Given the description of an element on the screen output the (x, y) to click on. 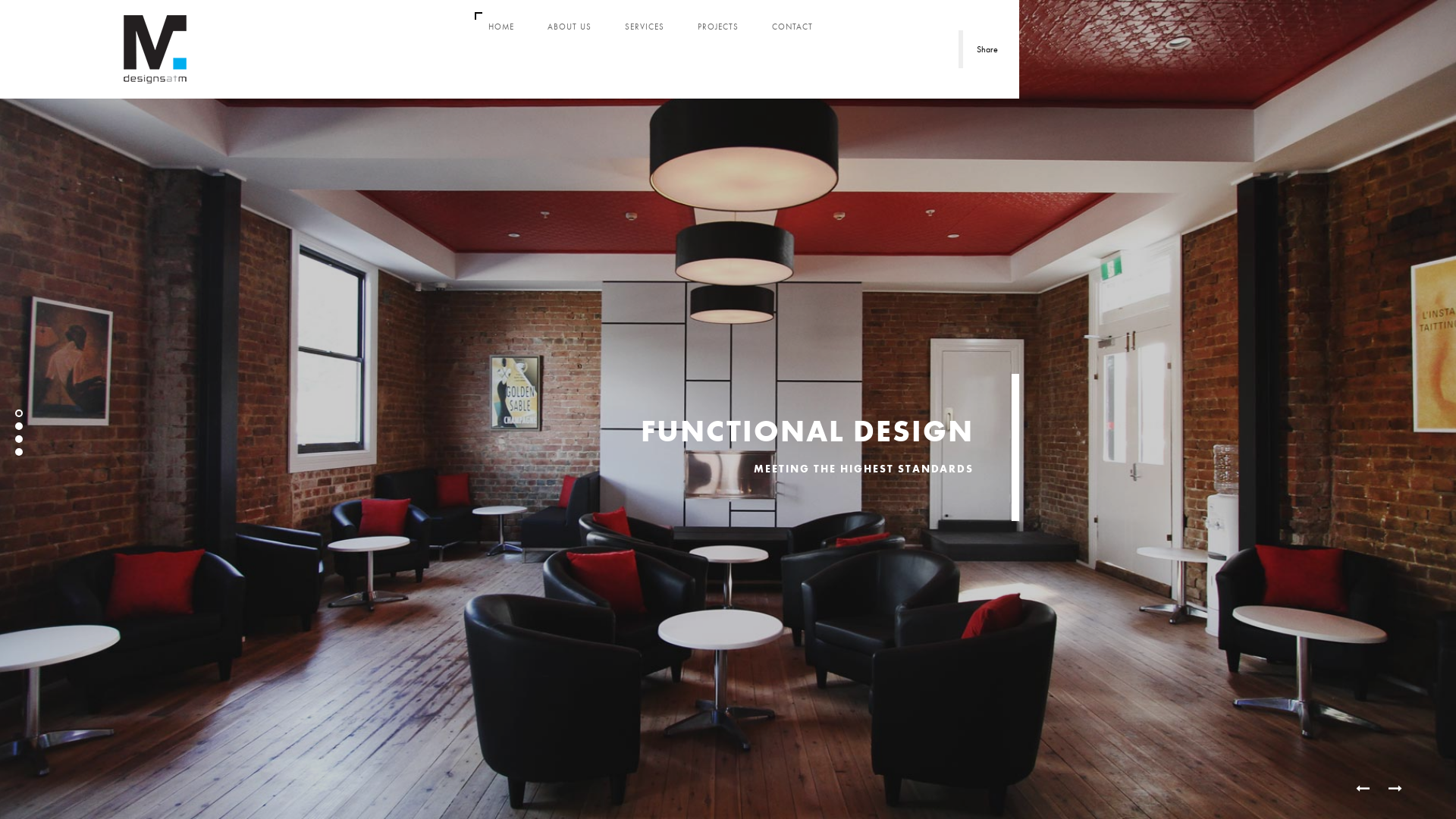
PROJECTS Element type: text (717, 26)
Share Element type: text (984, 49)
HOME Element type: text (500, 26)
ABOUT US Element type: text (569, 26)
CONTACT Element type: text (792, 26)
SERVICES Element type: text (644, 26)
FUNCTIONAL DESIGN Element type: text (806, 430)
